Given the description of an element on the screen output the (x, y) to click on. 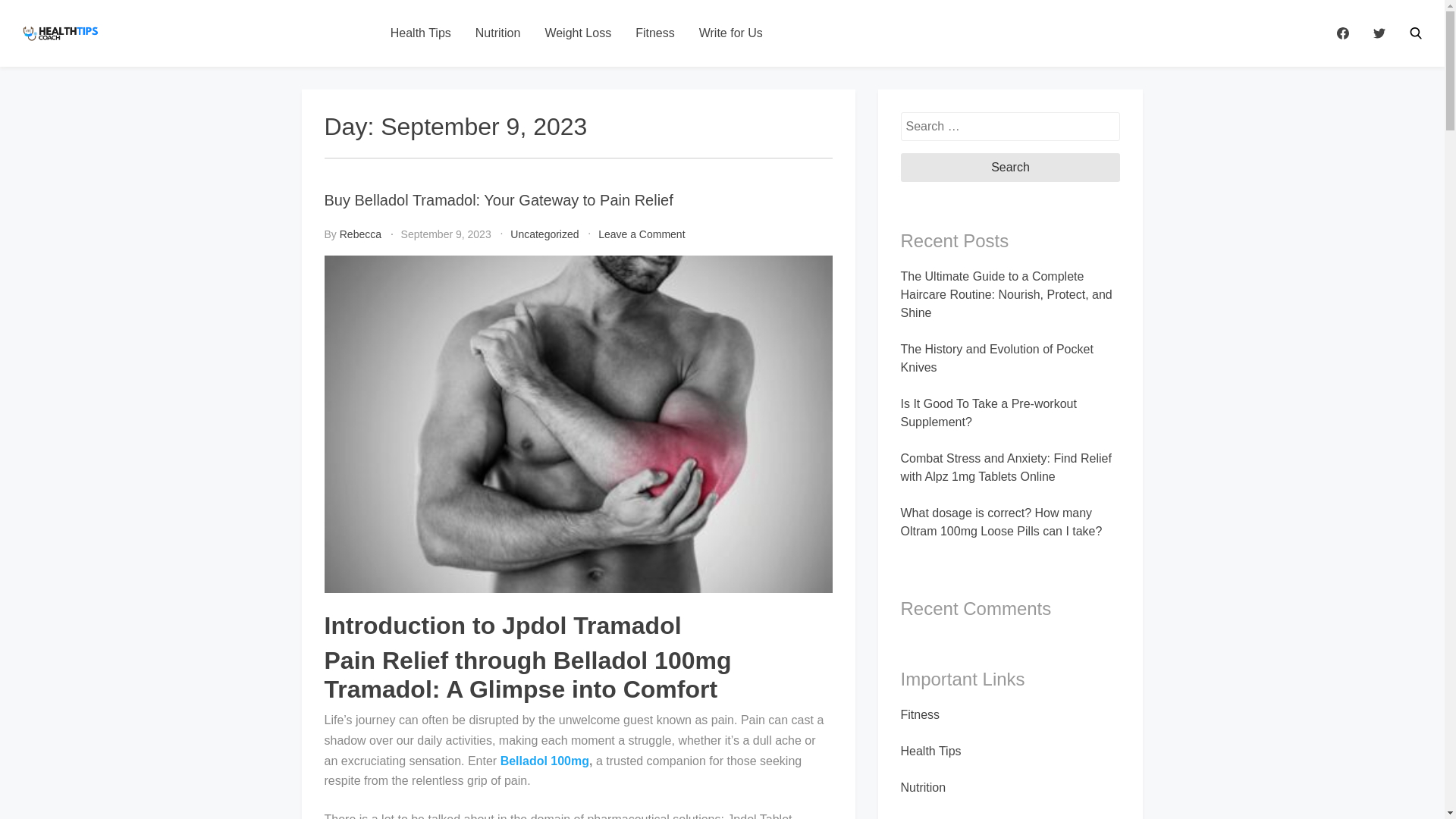
Belladol 100mg (544, 760)
Health Tips Coach (196, 45)
September 9, 2023 (446, 234)
Nutrition (497, 33)
Uncategorized (544, 234)
Rebecca (360, 234)
Health Tips (420, 33)
Fitness (655, 33)
Search (1011, 167)
Search (1011, 167)
Search (1415, 33)
Write for Us (730, 33)
Buy Belladol Tramadol: Your Gateway to Pain Relief (498, 199)
Weight Loss (577, 33)
